Given the description of an element on the screen output the (x, y) to click on. 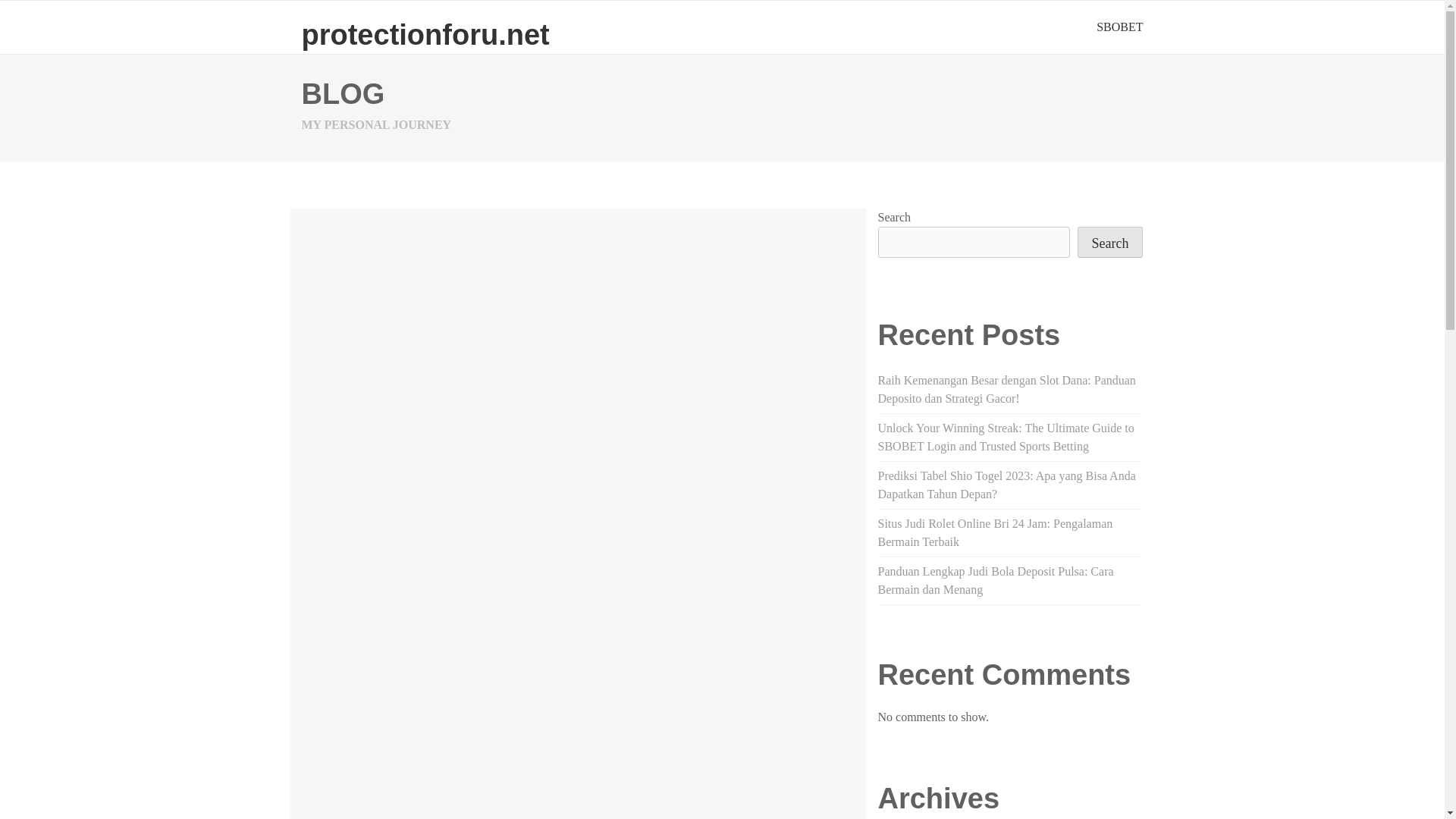
protectionforu.net (425, 34)
SBOBET (1119, 27)
Search (1109, 241)
